Given the description of an element on the screen output the (x, y) to click on. 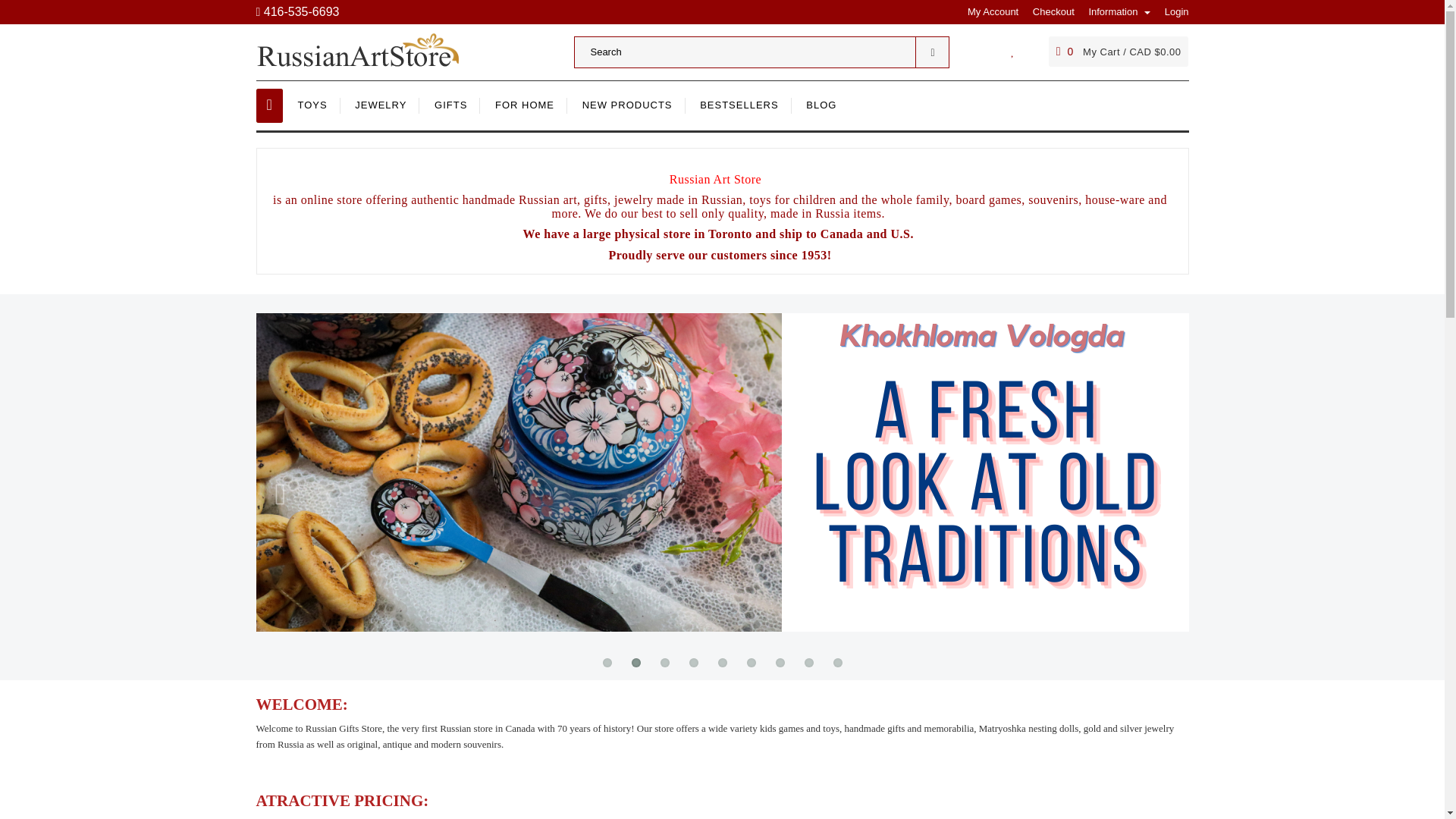
Russian Art Store (369, 49)
My Account (986, 11)
TOYS (312, 105)
416-535-6693 (297, 11)
Information (1113, 11)
Russian Art Store (369, 50)
Login (1171, 11)
Checkout (1048, 11)
JEWELRY (380, 105)
Checkout (1048, 11)
My Account (986, 11)
My Wishlist (1012, 51)
